Given the description of an element on the screen output the (x, y) to click on. 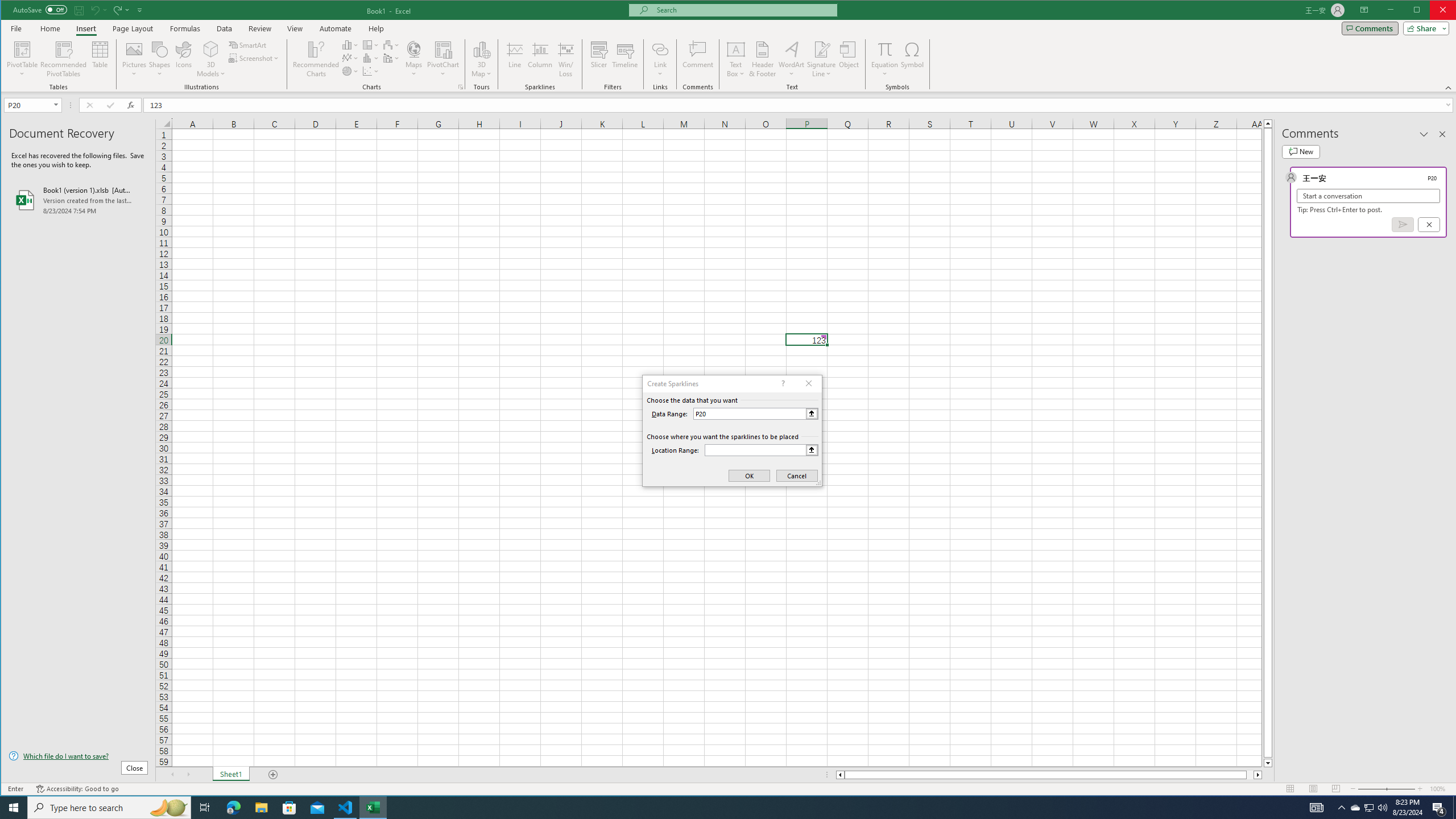
Zoom (1386, 788)
Class: NetUIScrollBar (1048, 774)
PivotChart (443, 48)
Close (1445, 11)
Ribbon Display Options (1364, 9)
Start a conversation (1368, 195)
Screenshot (254, 57)
Formulas (184, 28)
Sheet1 (230, 774)
Column left (839, 774)
Text Box (735, 59)
Column (540, 59)
Close pane (1441, 133)
Insert Hierarchy Chart (371, 44)
Normal (1290, 788)
